Given the description of an element on the screen output the (x, y) to click on. 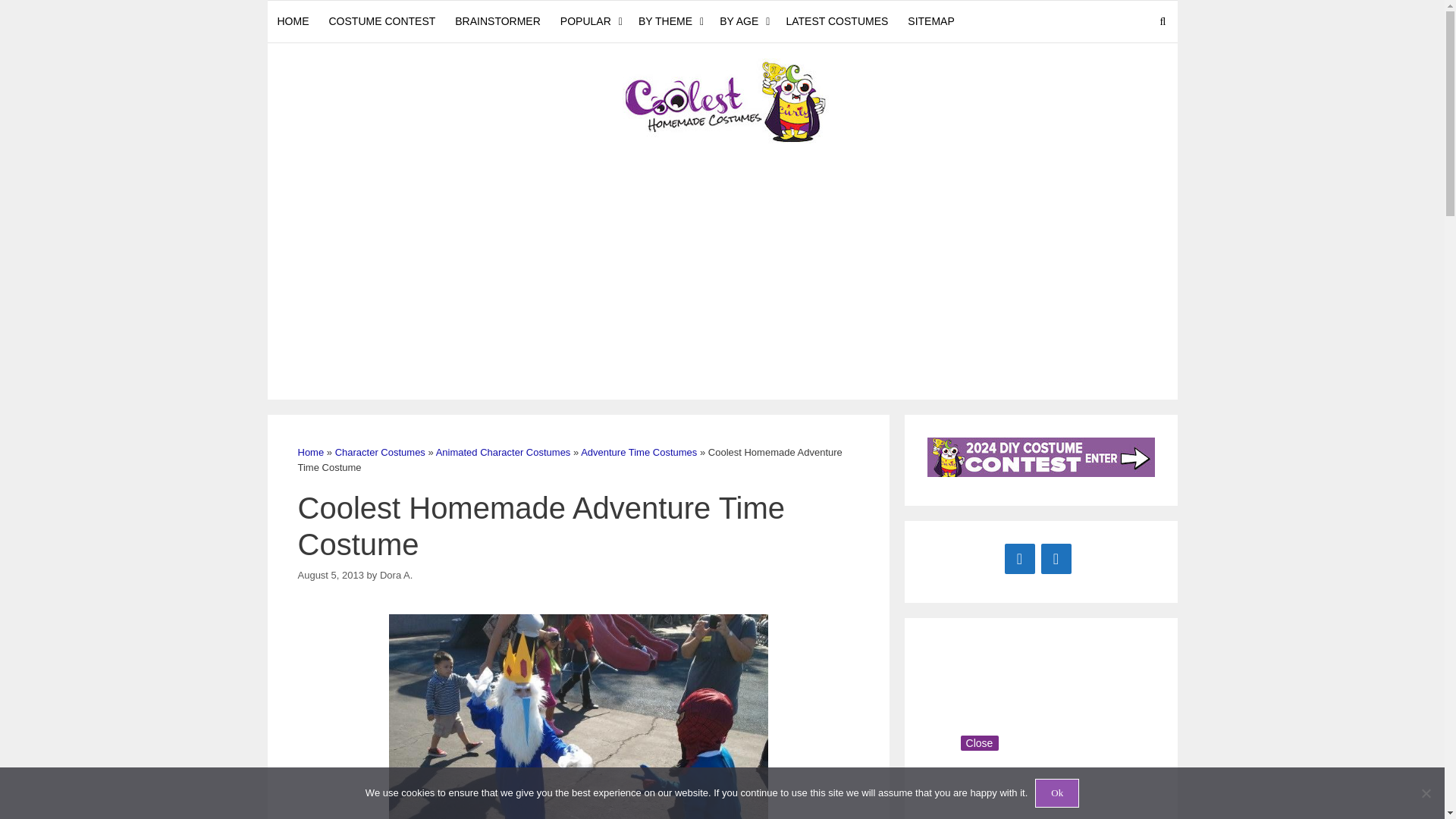
POPULAR (589, 21)
SITEMAP (930, 21)
COSTUME CONTEST (381, 21)
LATEST COSTUMES (837, 21)
Facebook (1018, 557)
HOME (292, 21)
Instagram (1055, 557)
View all posts by Dora A. (396, 573)
BY AGE (743, 21)
BRAINSTORMER (497, 21)
BY THEME (669, 21)
